Given the description of an element on the screen output the (x, y) to click on. 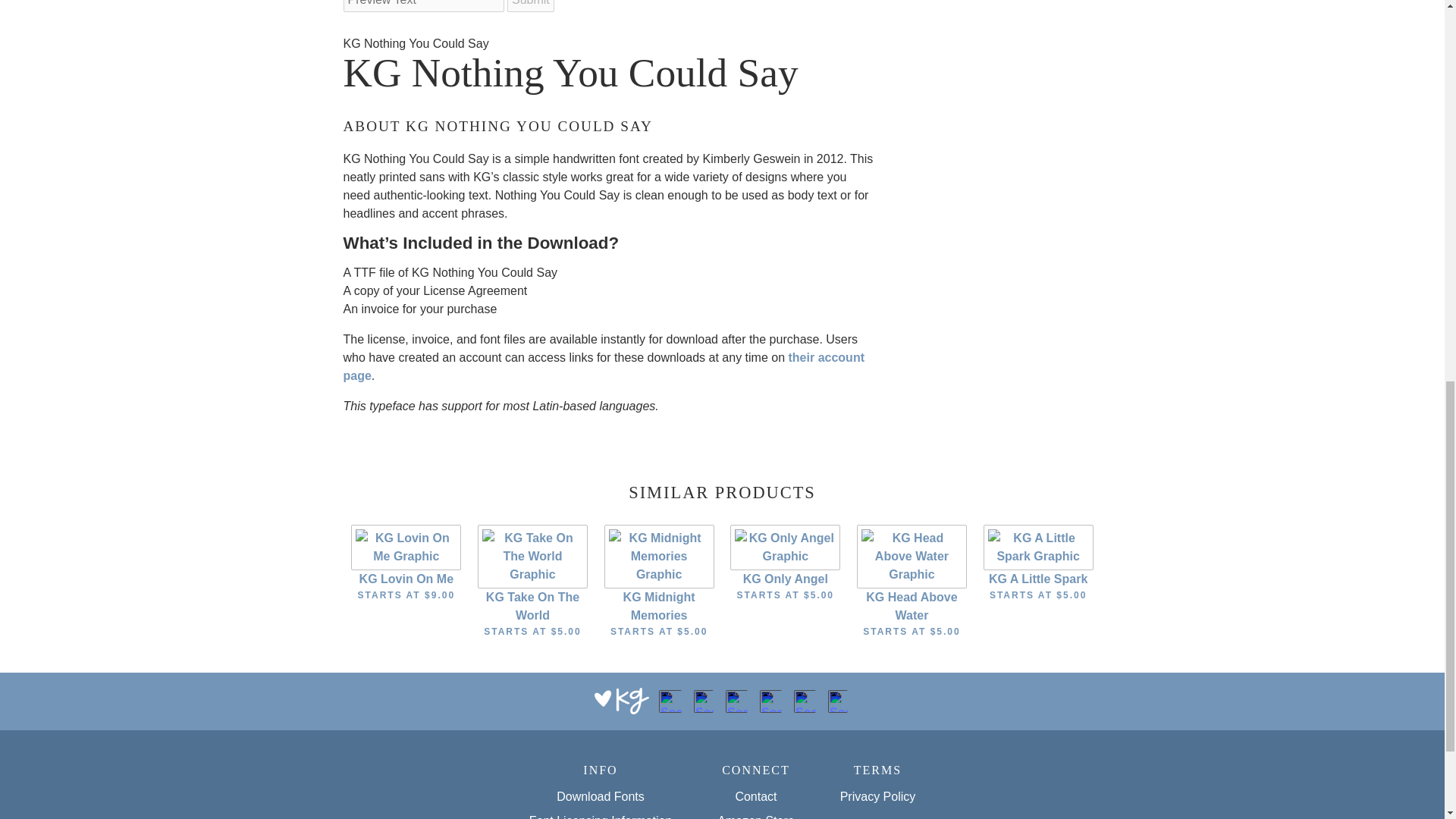
KG Head Above Water (911, 554)
their account page (602, 366)
KG Lovin On Me (405, 545)
KG Only Angel (785, 545)
Submit (530, 5)
Social Icon (670, 701)
KG A Little Spark (1038, 545)
Social Icon (736, 701)
KG Midnight Memories (659, 554)
KG Take On The World (532, 554)
